Given the description of an element on the screen output the (x, y) to click on. 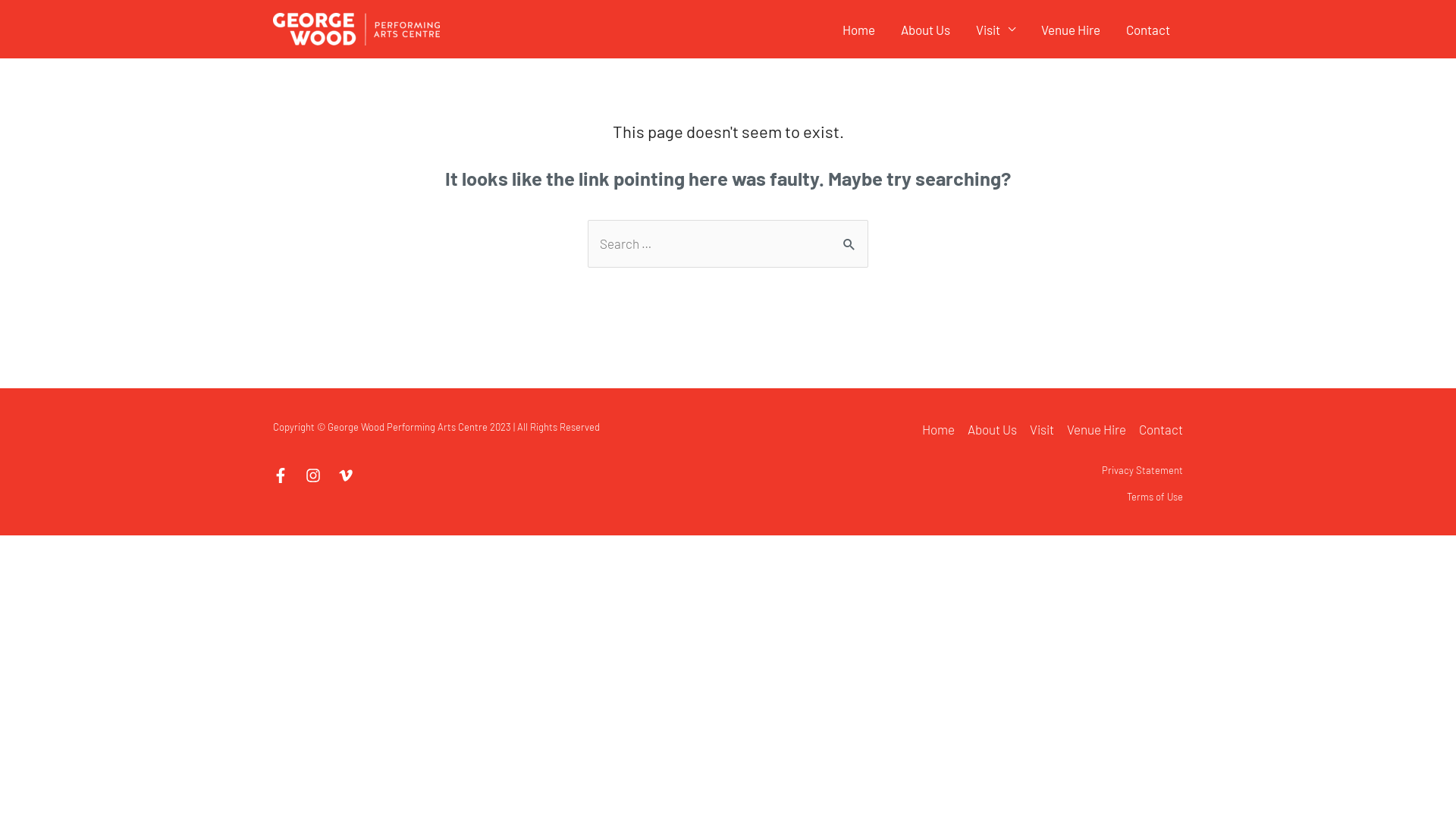
Visit Element type: text (995, 29)
Terms of Use Element type: text (1154, 496)
Home Element type: text (941, 436)
Venue Hire Element type: text (1070, 29)
Home Element type: text (858, 29)
Privacy Statement Element type: text (1142, 470)
Contact Element type: text (1148, 29)
Visit Element type: text (1041, 436)
Search Element type: text (851, 235)
About Us Element type: text (992, 436)
About Us Element type: text (925, 29)
Venue Hire Element type: text (1096, 436)
Contact Element type: text (1157, 436)
